Given the description of an element on the screen output the (x, y) to click on. 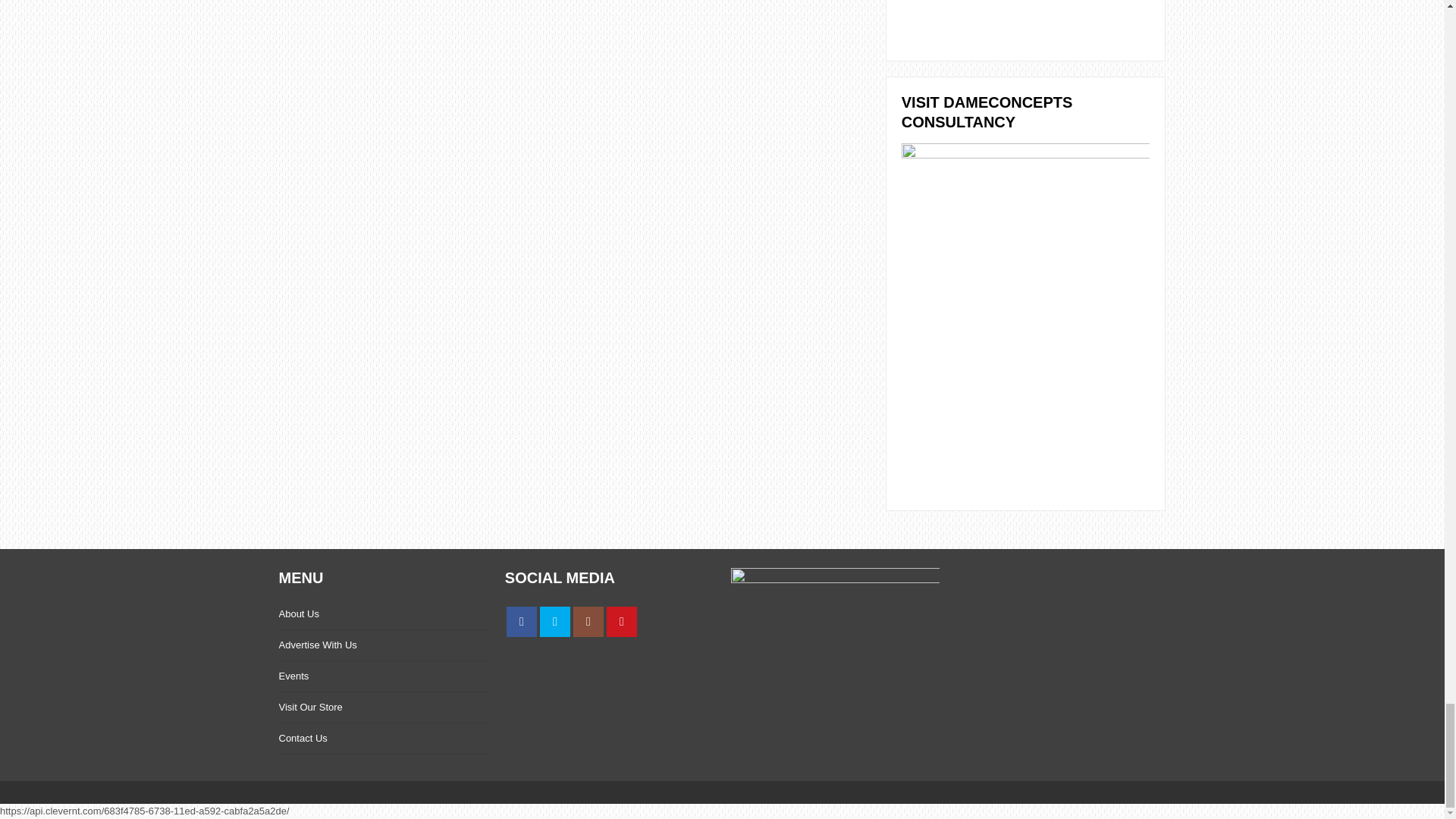
Events (293, 675)
Advertise With Us (317, 644)
Visit Our Store (310, 706)
Contact Us (303, 737)
About Us (298, 613)
